Given the description of an element on the screen output the (x, y) to click on. 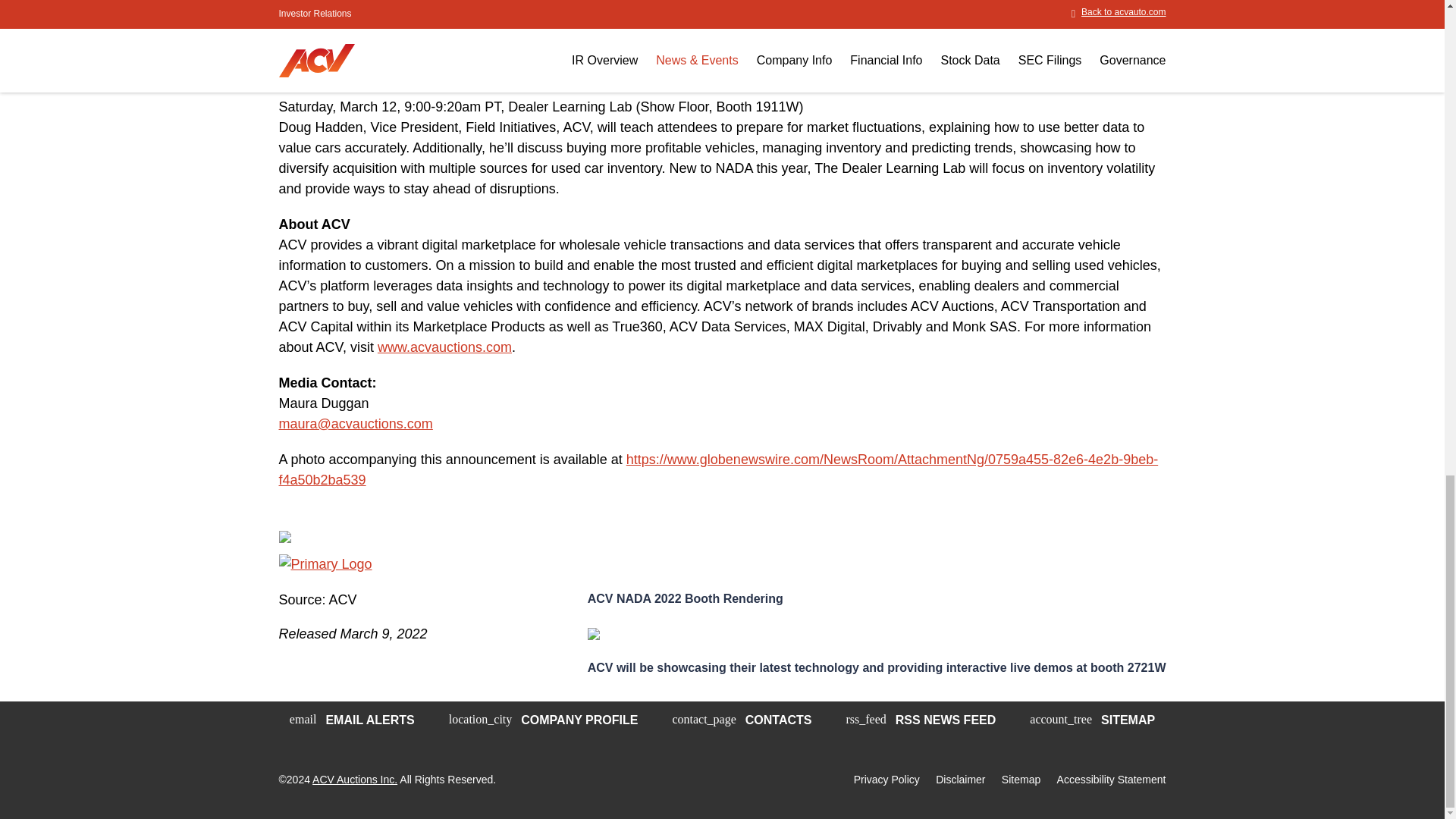
Opens in a new window (355, 423)
Opens in a new window (444, 346)
Opens in a new window (718, 469)
